Given the description of an element on the screen output the (x, y) to click on. 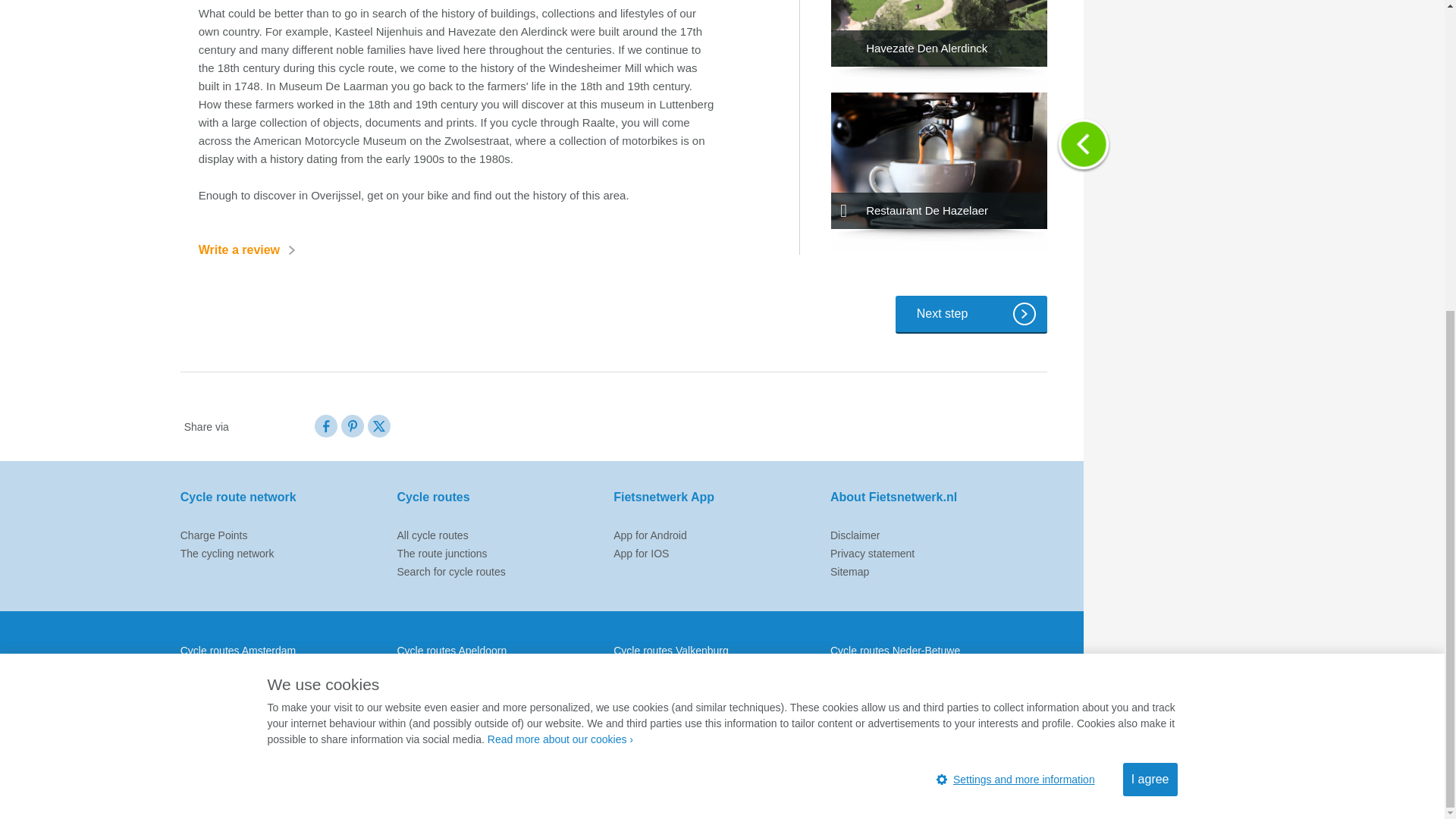
OpenStreetMap contributors (1358, 307)
YouTube (980, 790)
Privacy statement (871, 553)
Write a review (251, 249)
Disclaimer (854, 535)
Charge Points (213, 535)
The cycling network (227, 553)
X (953, 790)
Sitemap (849, 571)
App for IOS (640, 553)
